Given the description of an element on the screen output the (x, y) to click on. 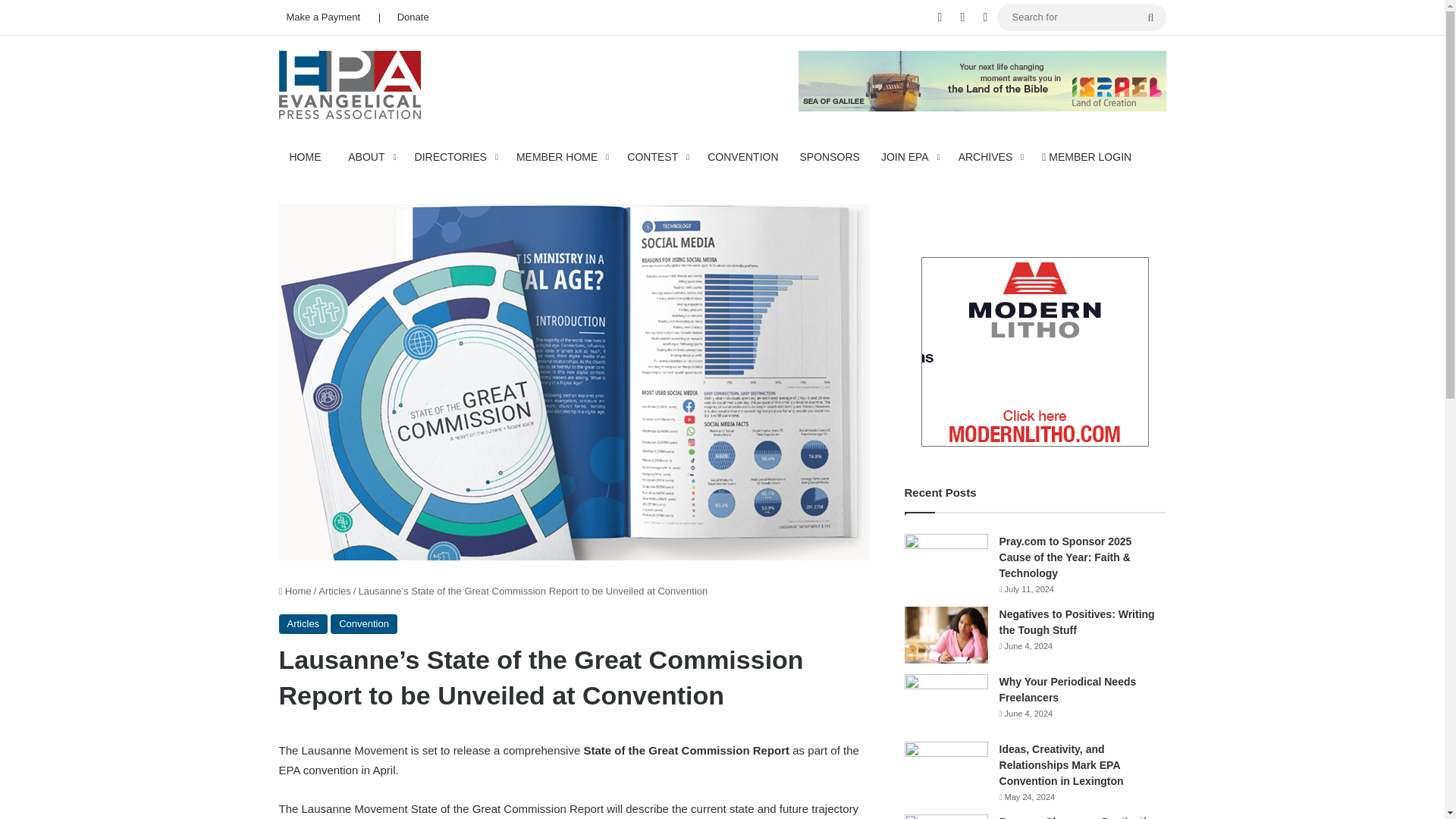
MEMBER HOME (560, 156)
Evangelical Press Association (349, 83)
Search for (1081, 16)
Search for (1150, 17)
Make a Payment (323, 17)
HOME   (308, 156)
ABOUT (370, 156)
DIRECTORIES (454, 156)
